Given the description of an element on the screen output the (x, y) to click on. 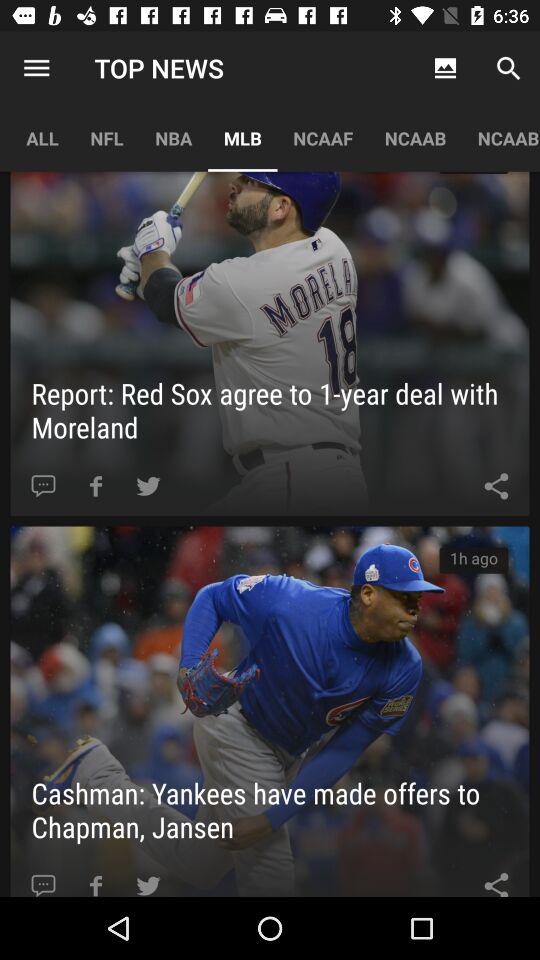
flip until the ncaab app (415, 138)
